Given the description of an element on the screen output the (x, y) to click on. 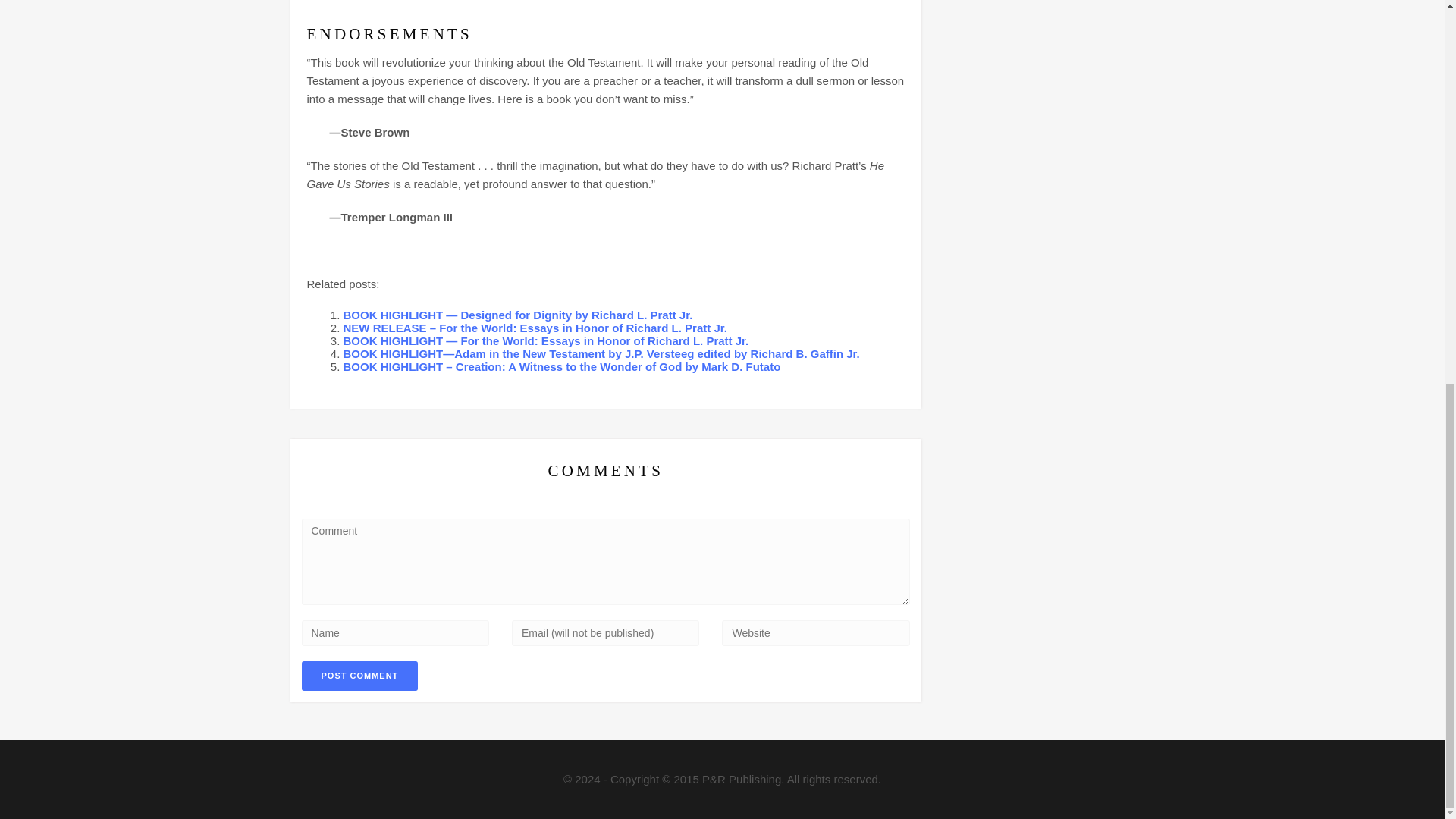
Post Comment (360, 675)
Post Comment (360, 675)
